Given the description of an element on the screen output the (x, y) to click on. 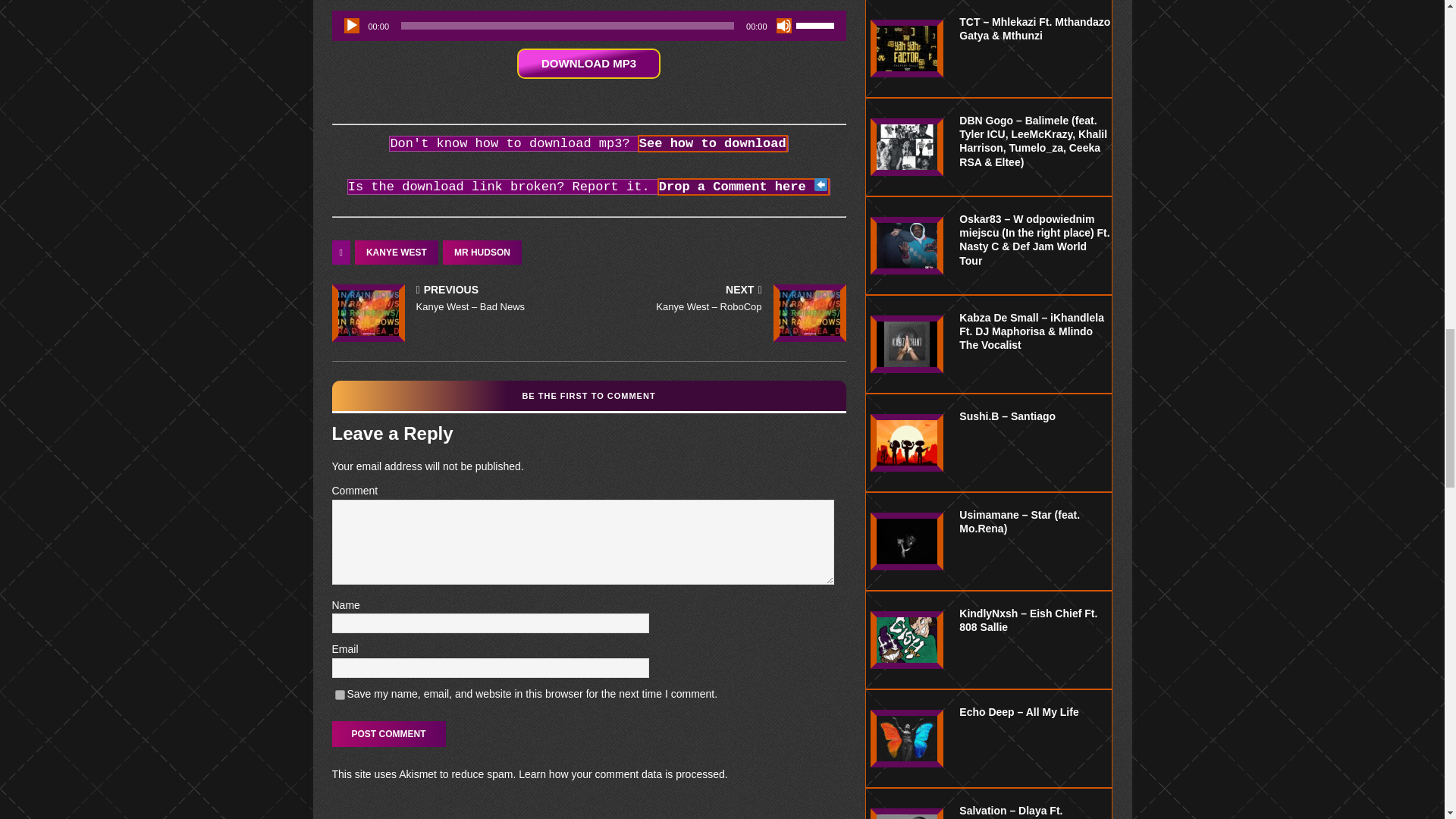
Play (351, 25)
yes (339, 695)
Mute (784, 25)
Post Comment (388, 733)
